Given the description of an element on the screen output the (x, y) to click on. 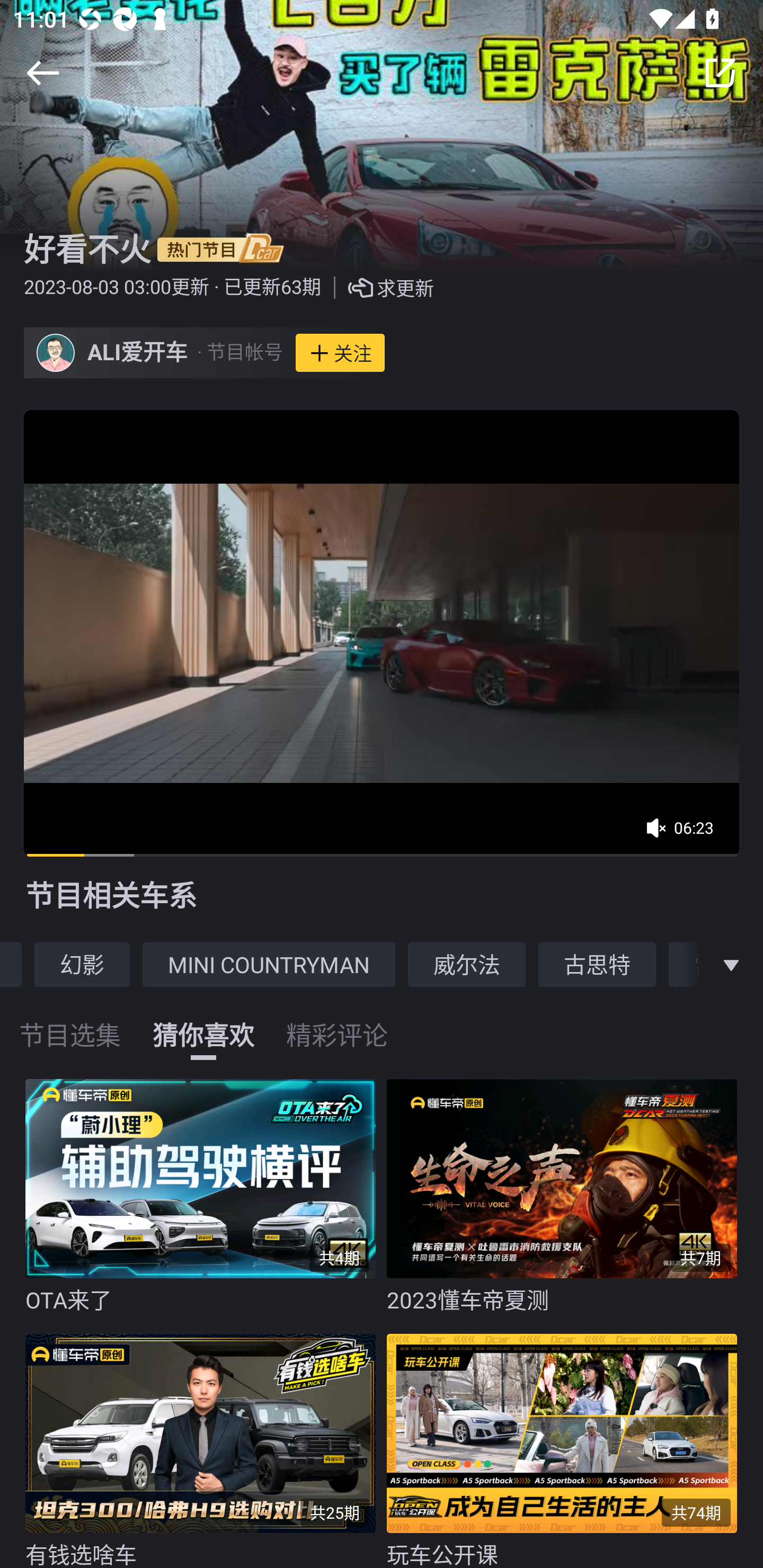
 (42, 72)
 (720, 72)
 求更新 (377, 287)
ALI爱开车 (137, 352)
· 节目帐号 (239, 352)
 关注 (340, 352)
06:24 (685, 834)
 (731, 963)
幻影 (81, 964)
MINI COUNTRYMAN (268, 964)
威尔法 (466, 964)
古思特 (597, 964)
节目选集 (69, 1023)
猜你喜欢 (203, 1023)
精彩评论 (336, 1023)
共4期 OTA来了 (205, 1196)
共7期 2023懂车帝夏测 (567, 1196)
共25期 有钱选啥车 (205, 1446)
共74期 玩车公开课 (567, 1446)
